Given the description of an element on the screen output the (x, y) to click on. 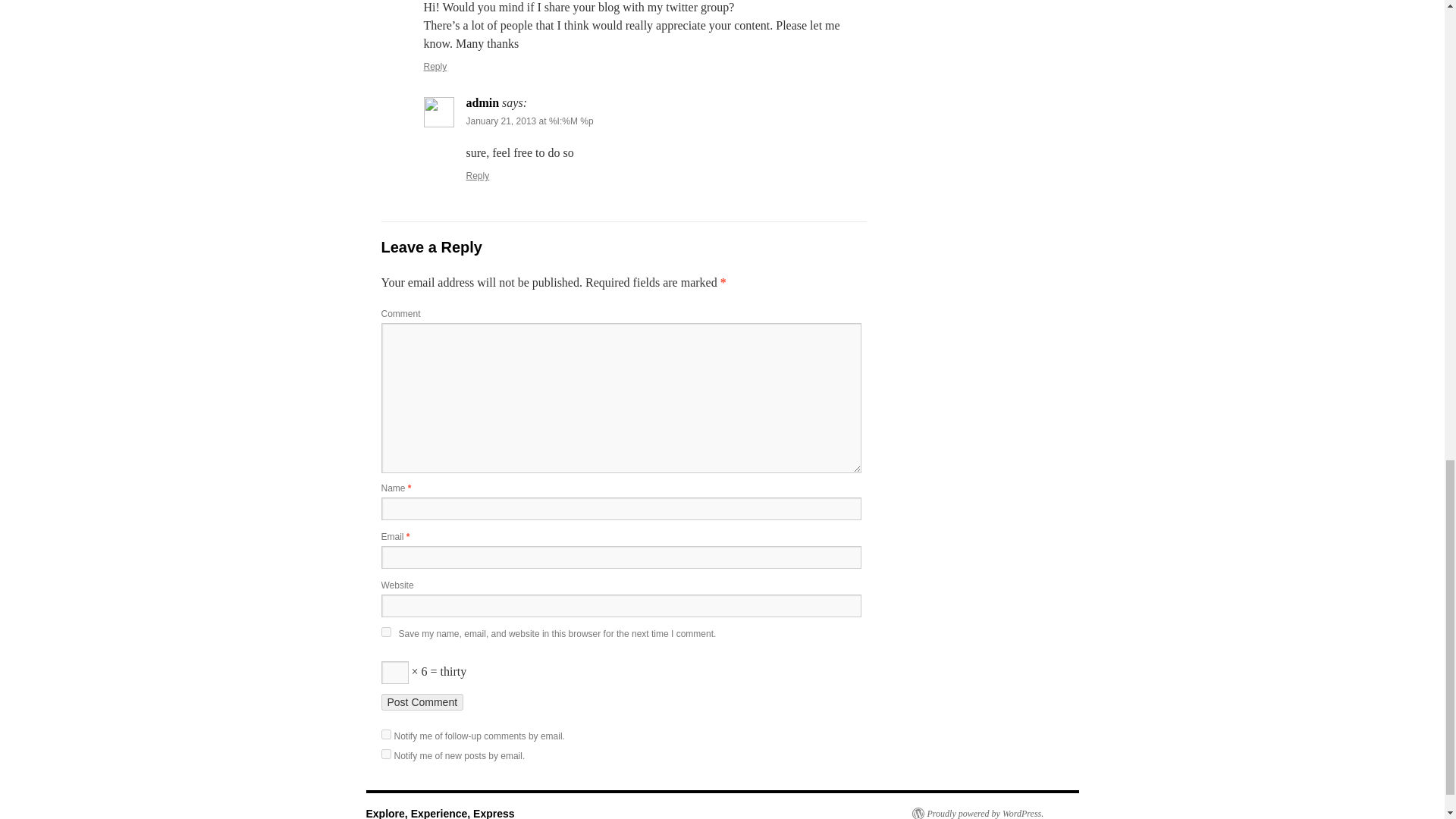
yes (385, 632)
subscribe (385, 754)
Reply (434, 66)
Post Comment (421, 701)
subscribe (385, 734)
Post Comment (421, 701)
Reply (477, 175)
